Given the description of an element on the screen output the (x, y) to click on. 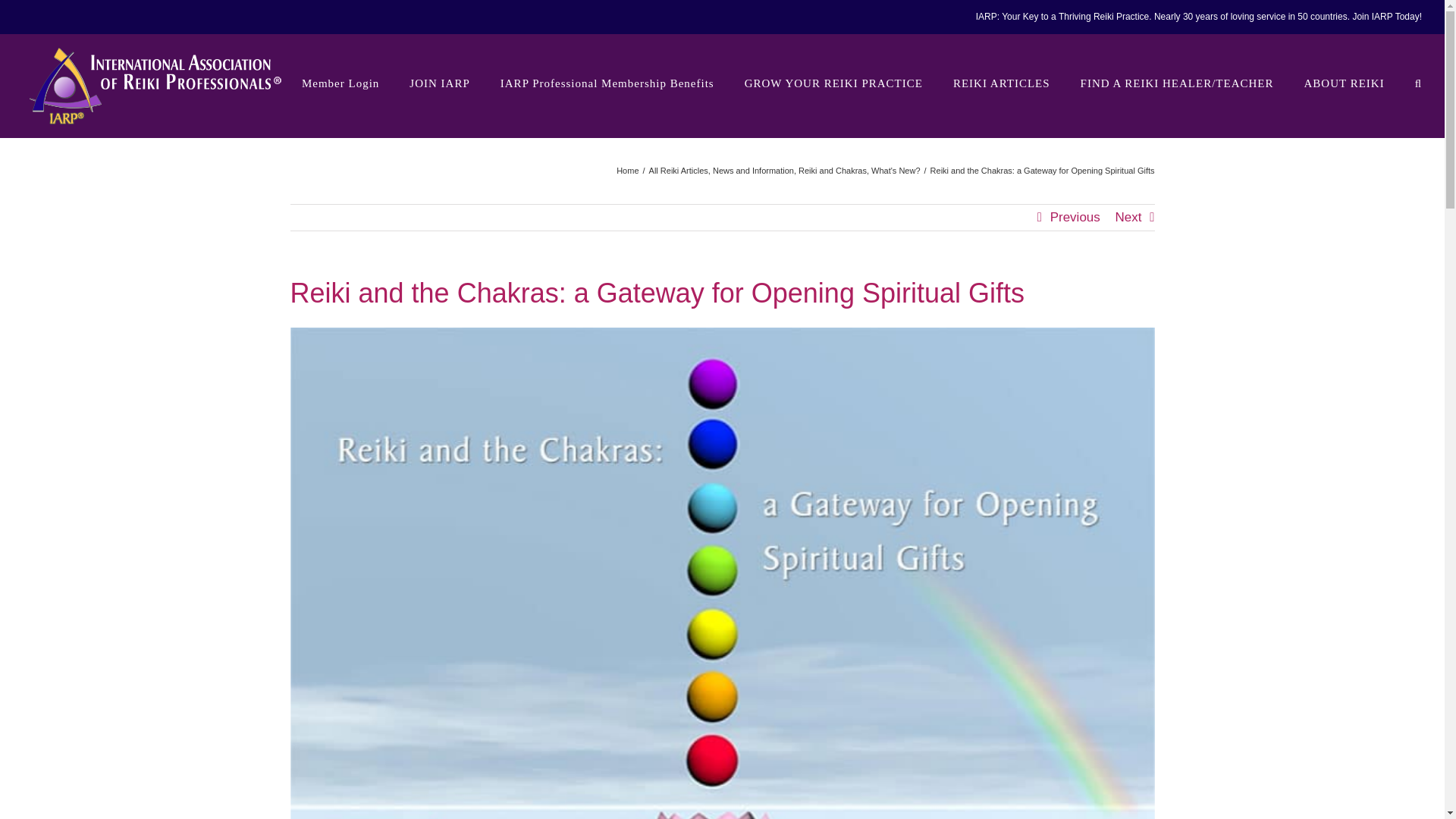
GROW YOUR REIKI PRACTICE (833, 83)
Member Login (339, 83)
IARP Professional Membership Benefits (607, 83)
REIKI ARTICLES (1001, 83)
